Given the description of an element on the screen output the (x, y) to click on. 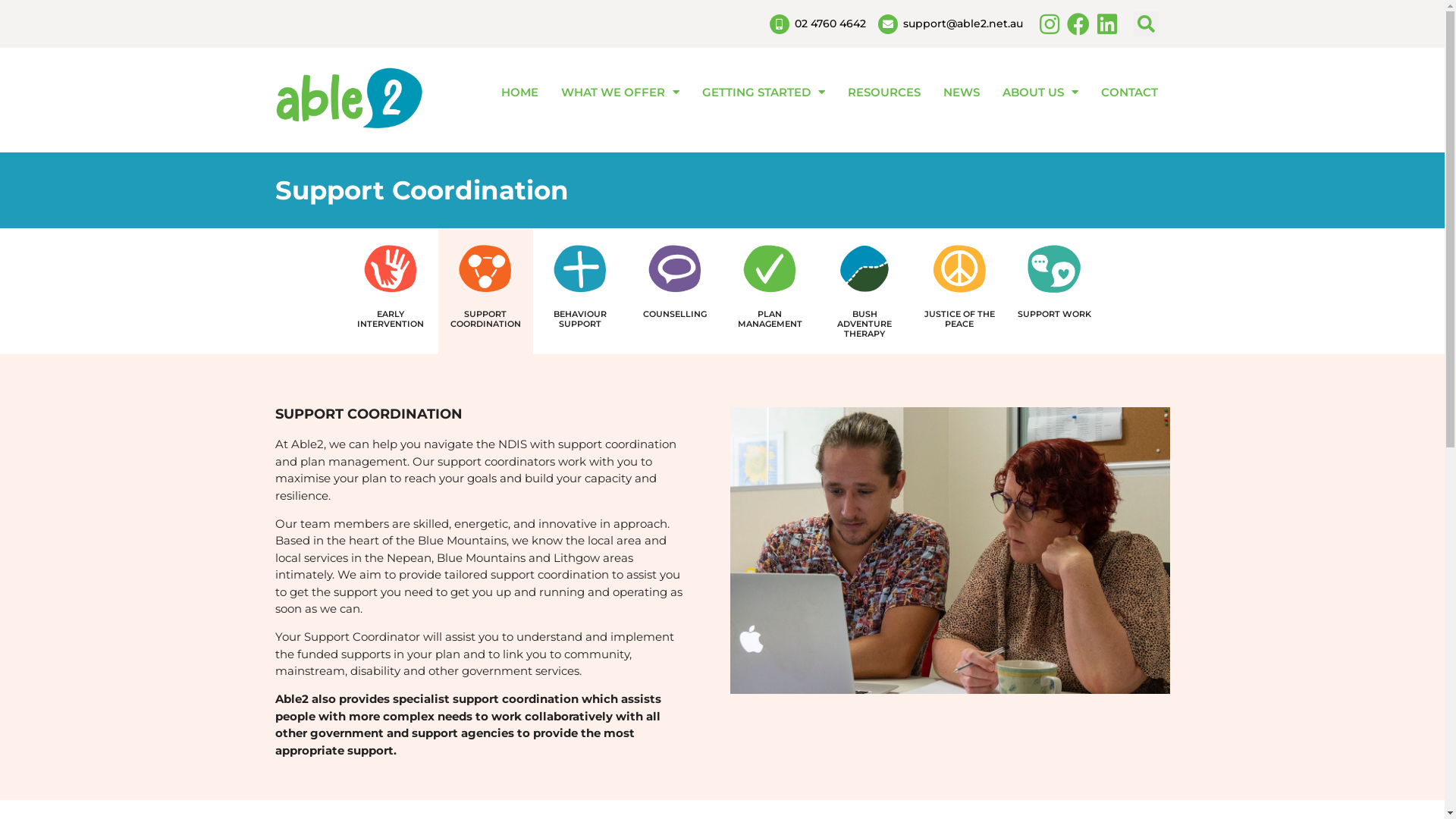
RESOURCES Element type: text (883, 92)
HOME Element type: text (519, 92)
CONTACT Element type: text (1129, 92)
GETTING STARTED Element type: text (763, 92)
02 4760 4642 Element type: text (816, 23)
support@able2.net.au Element type: text (950, 23)
WHAT WE OFFER Element type: text (619, 92)
ABOUT US Element type: text (1040, 92)
NEWS Element type: text (961, 92)
